Given the description of an element on the screen output the (x, y) to click on. 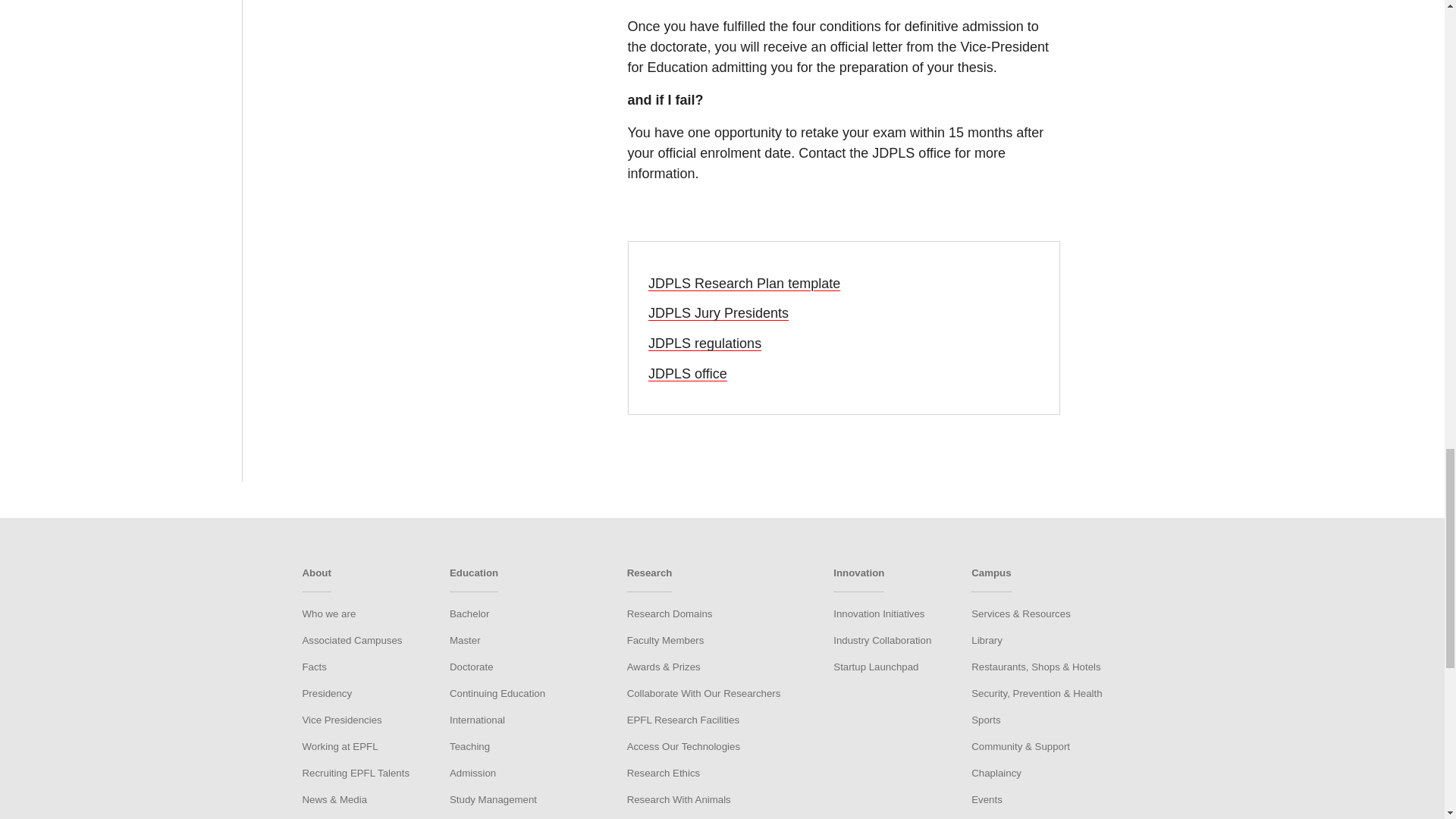
JDPLS office (686, 373)
JDPLS Jury Presidents (718, 313)
JDPLS Research Plan template (743, 283)
JDPLS regulations (704, 343)
